Given the description of an element on the screen output the (x, y) to click on. 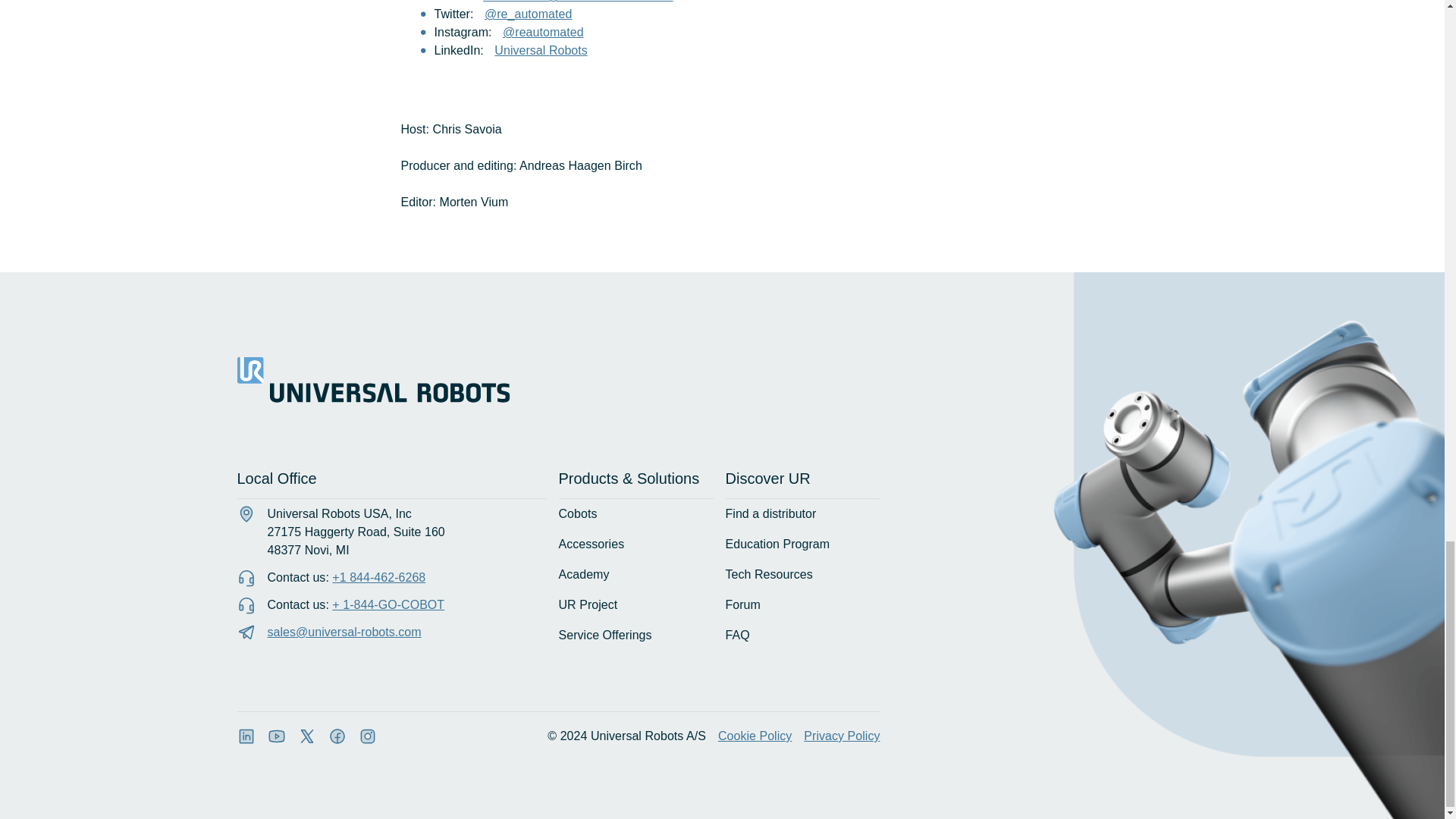
Cobots (585, 514)
Accessories (599, 544)
Service Offerings (613, 635)
Universal Robots (540, 50)
Academy (592, 574)
Cobots (585, 514)
Academy (592, 574)
Education Program (786, 544)
Find a distributor (779, 514)
Accessories (599, 544)
UR Project (595, 605)
